Given the description of an element on the screen output the (x, y) to click on. 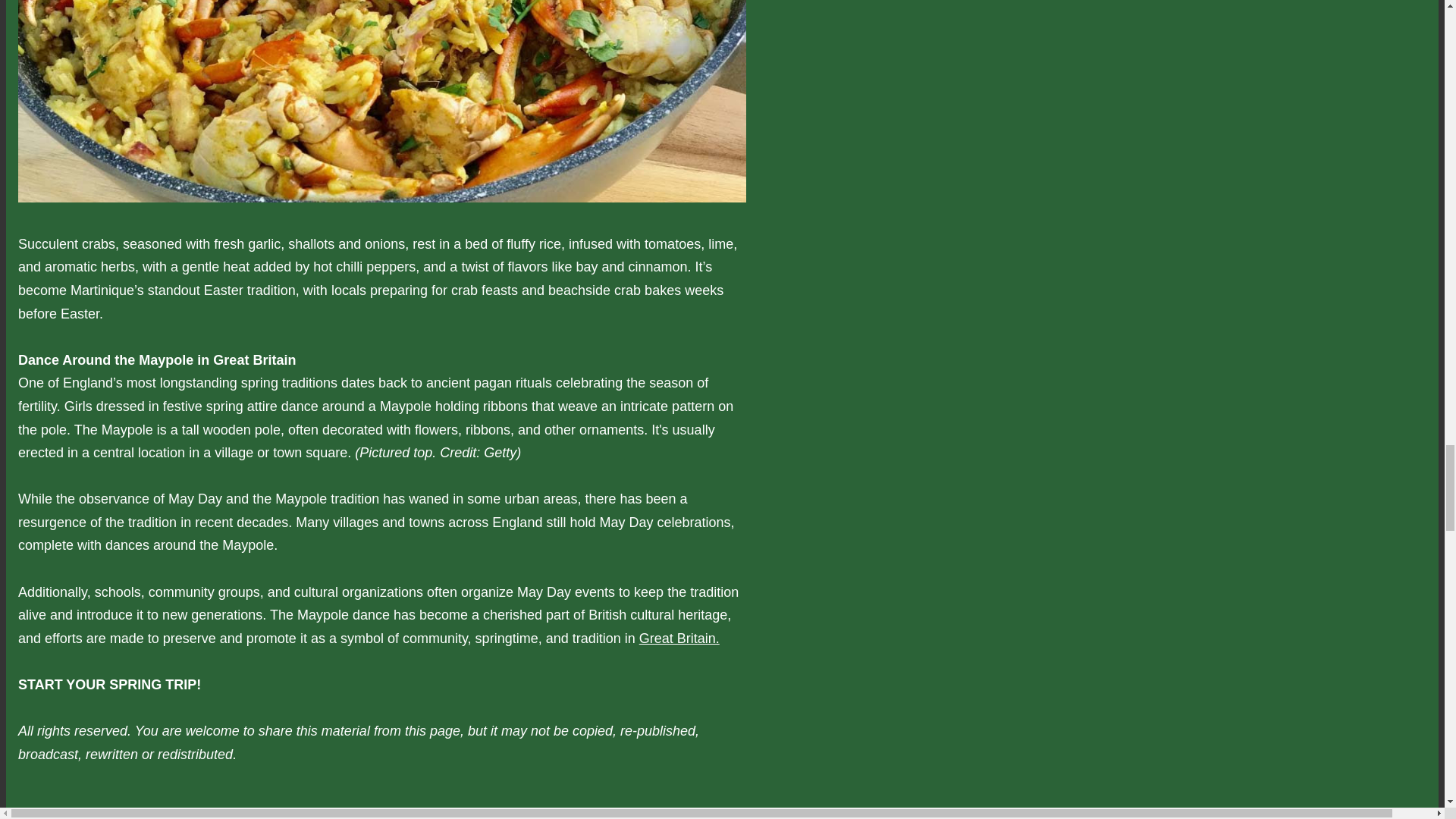
Great Britain. (679, 638)
